Given the description of an element on the screen output the (x, y) to click on. 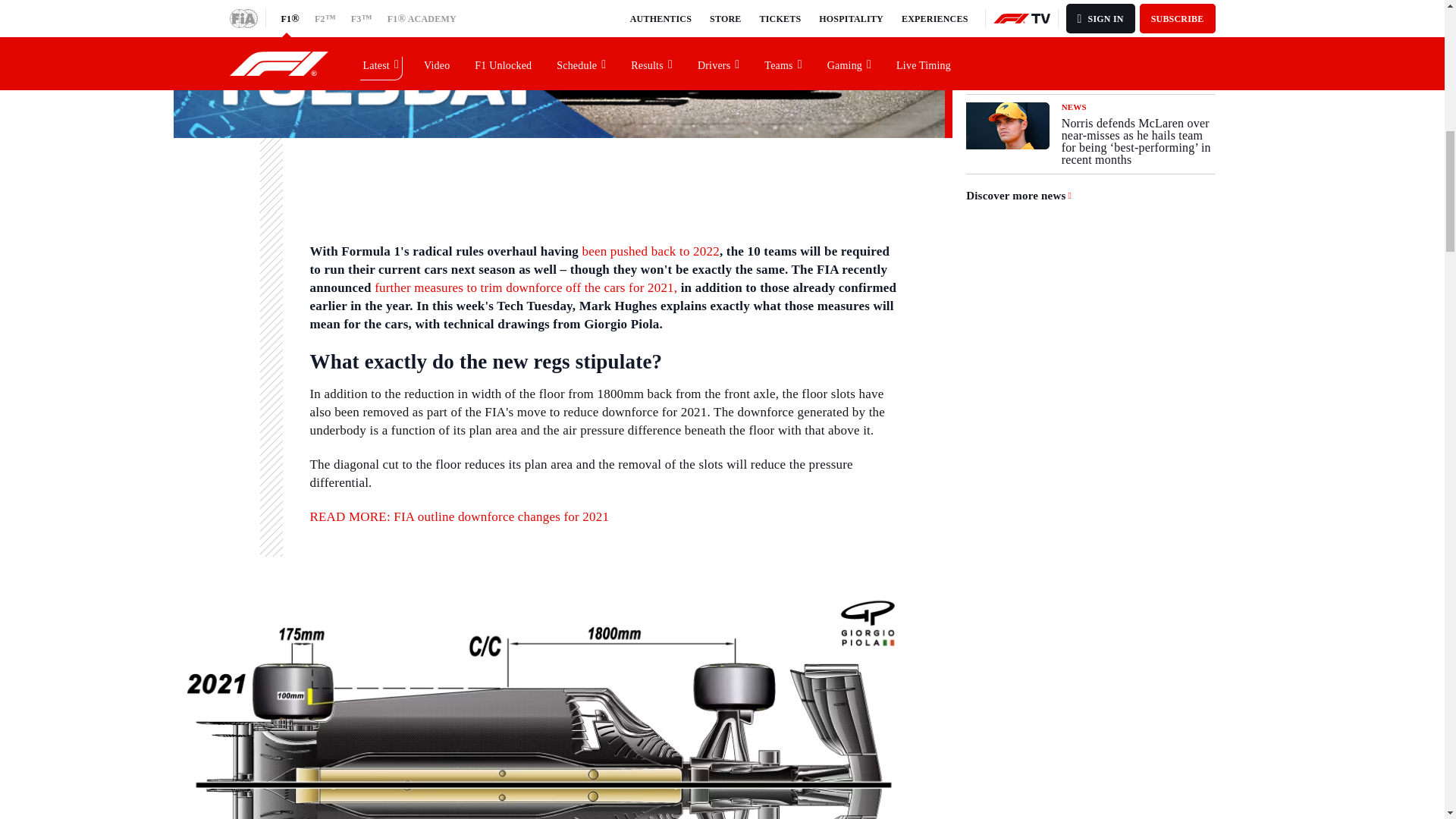
Discover more news (1018, 195)
